Given the description of an element on the screen output the (x, y) to click on. 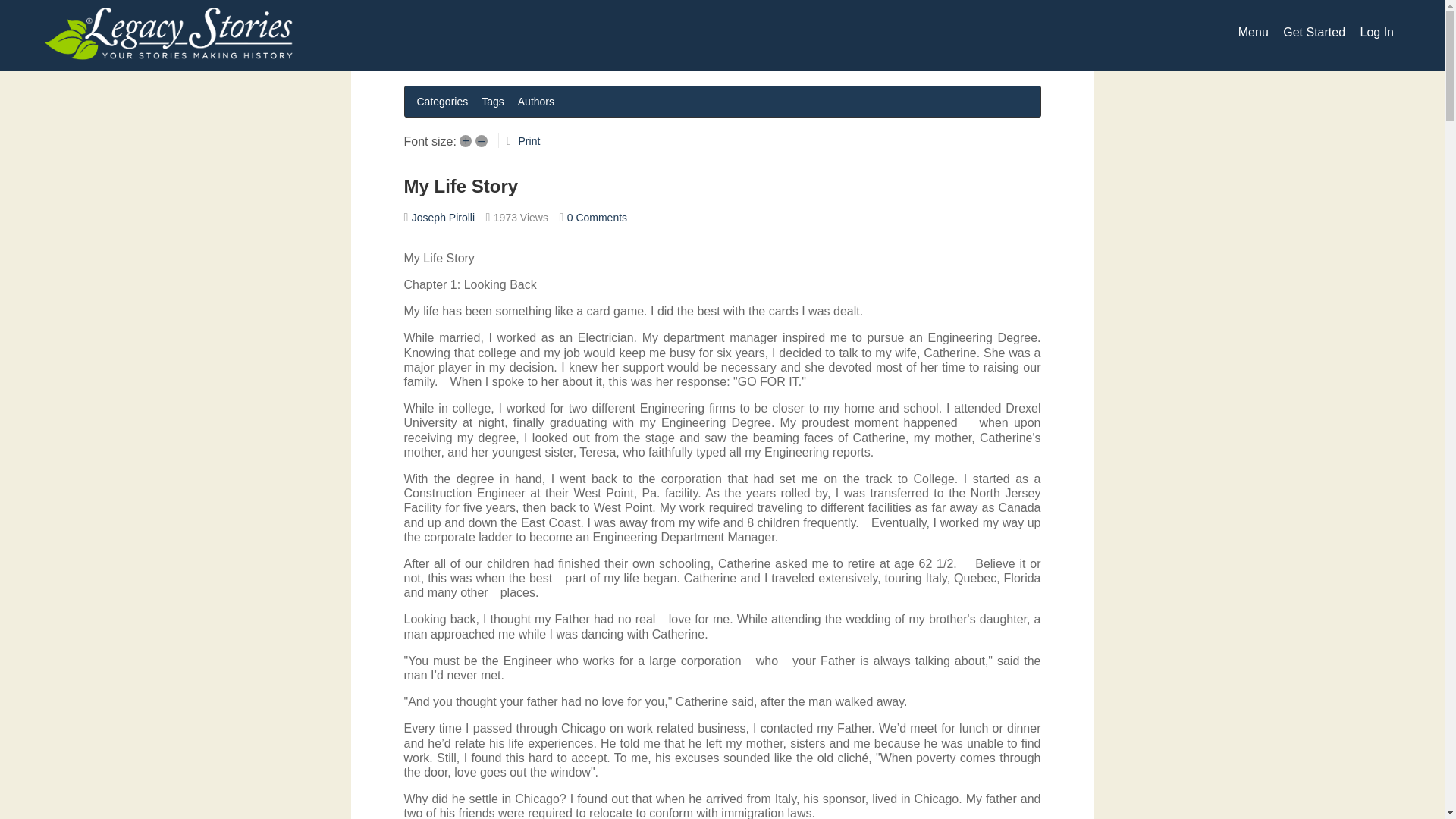
Categories (442, 101)
Authors (536, 101)
Log In (1376, 31)
Menu (1253, 31)
Print (529, 141)
Get Started (1313, 31)
Tags (493, 101)
Print (529, 141)
Joseph Pirolli (443, 217)
